Given the description of an element on the screen output the (x, y) to click on. 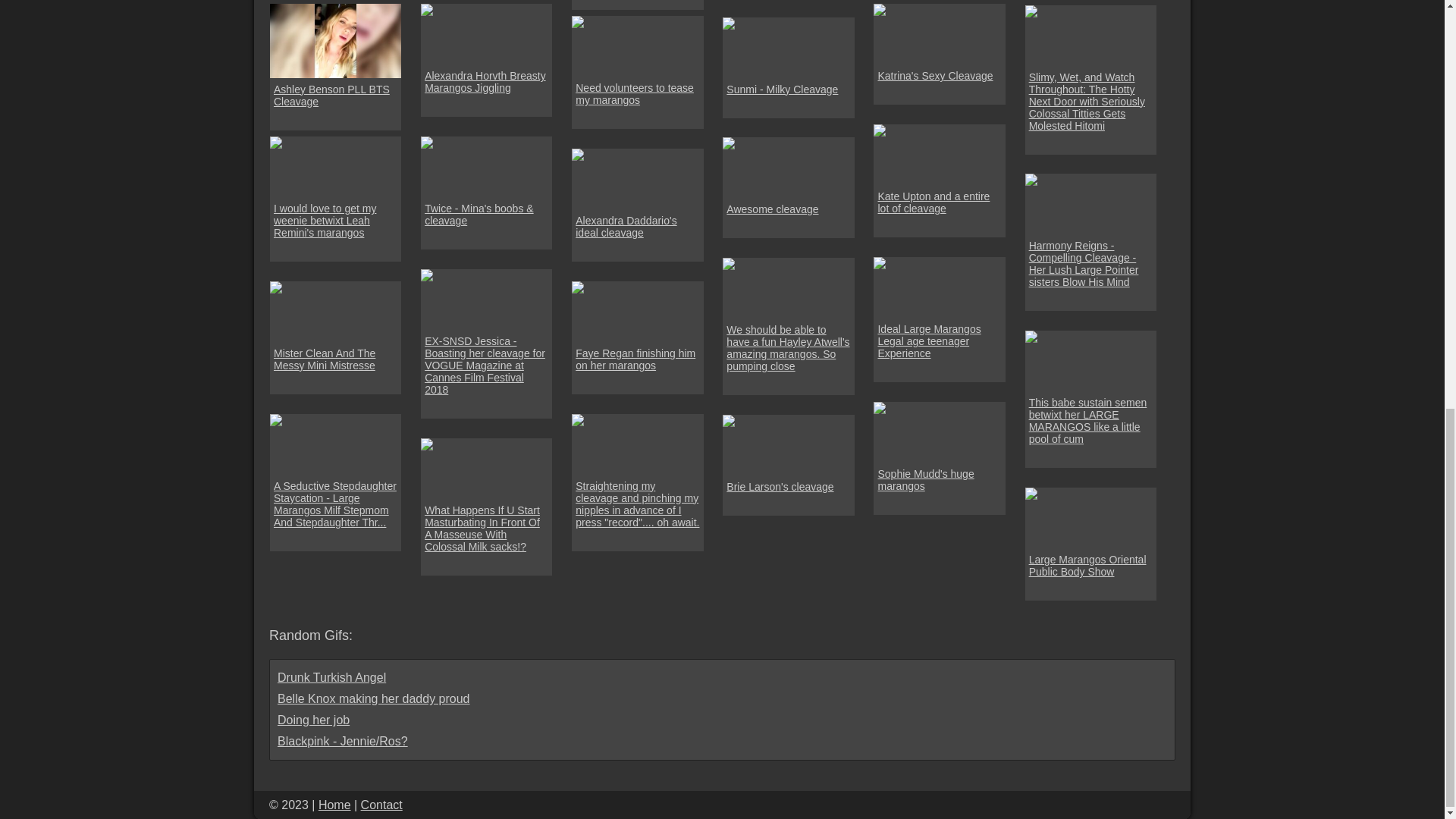
Alexandra Horvth Breasty Marangos Jiggling (486, 81)
I would love to get my weenie betwixt Leah Remini's marangos (335, 220)
Ashley Benson PLL BTS Cleavage (335, 95)
Kate Upton and a entire lot of cleavage (939, 202)
Awesome cleavage (772, 209)
Need volunteers to tease my marangos (636, 93)
Katrina's Sexy Cleavage (934, 75)
Sunmi - Milky Cleavage (782, 89)
